Given the description of an element on the screen output the (x, y) to click on. 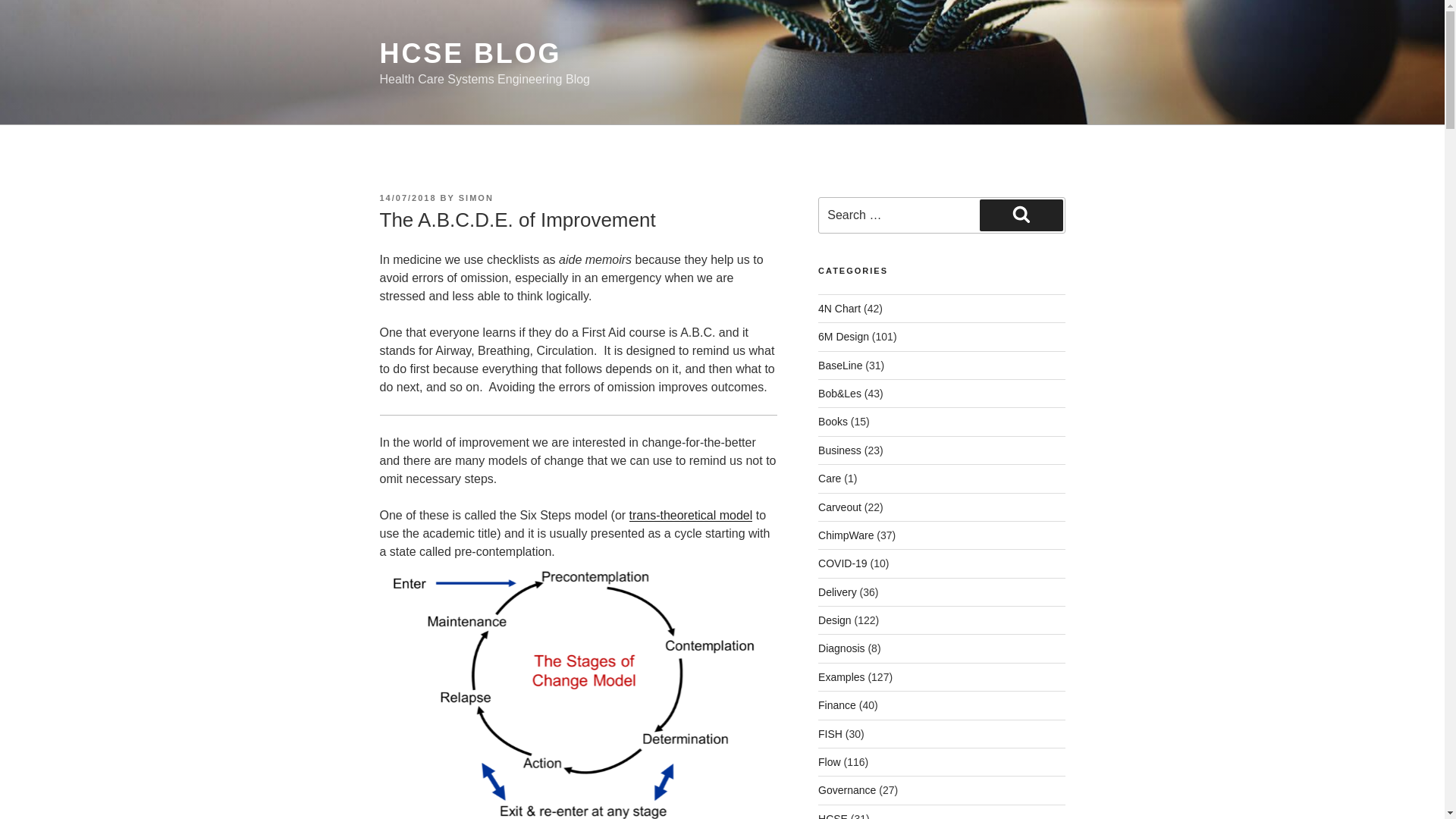
Delivery (837, 592)
6M Design (843, 336)
Search (1020, 214)
trans-theoretical model (690, 514)
Business (839, 450)
Diagnosis (841, 648)
COVID-19 (842, 563)
Finance (837, 705)
Care (829, 478)
Flow (829, 761)
